Given the description of an element on the screen output the (x, y) to click on. 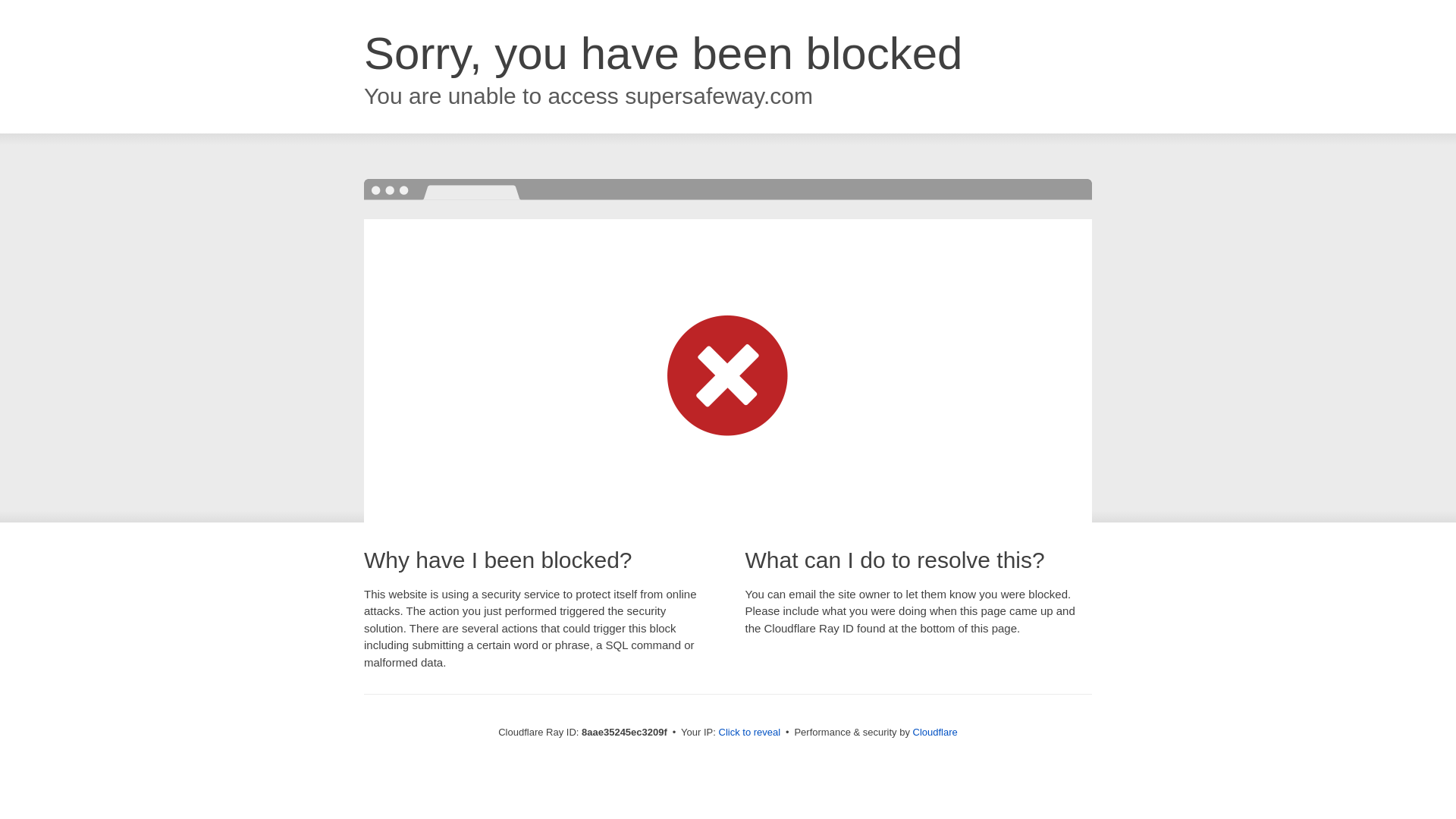
Cloudflare (935, 731)
Click to reveal (749, 732)
